Given the description of an element on the screen output the (x, y) to click on. 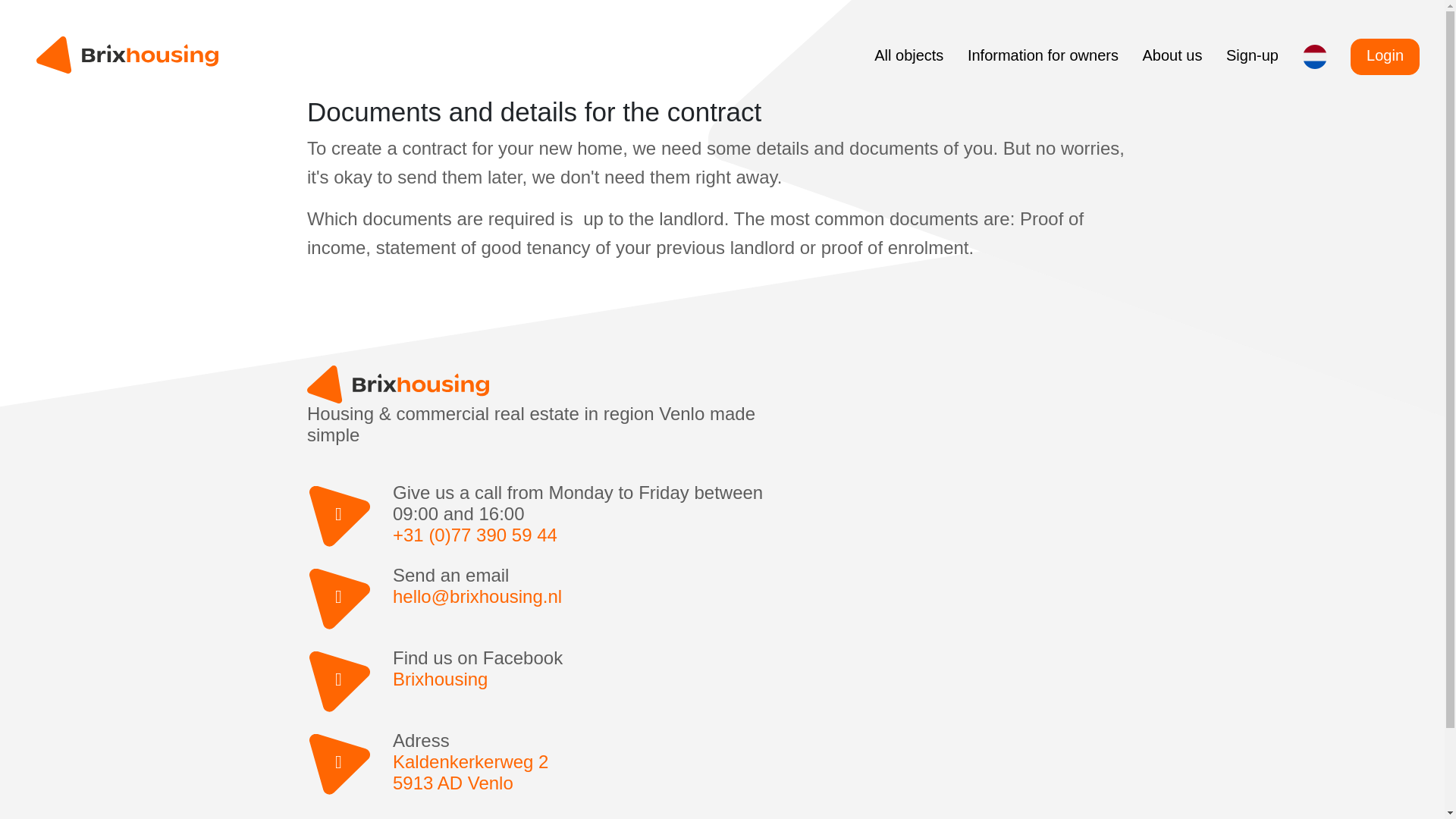
About us (1171, 55)
Information for owners (1043, 55)
Login (1385, 56)
Brixhousing (588, 772)
All objects (588, 679)
Home (909, 55)
Home (127, 54)
Sign-up (548, 383)
